Given the description of an element on the screen output the (x, y) to click on. 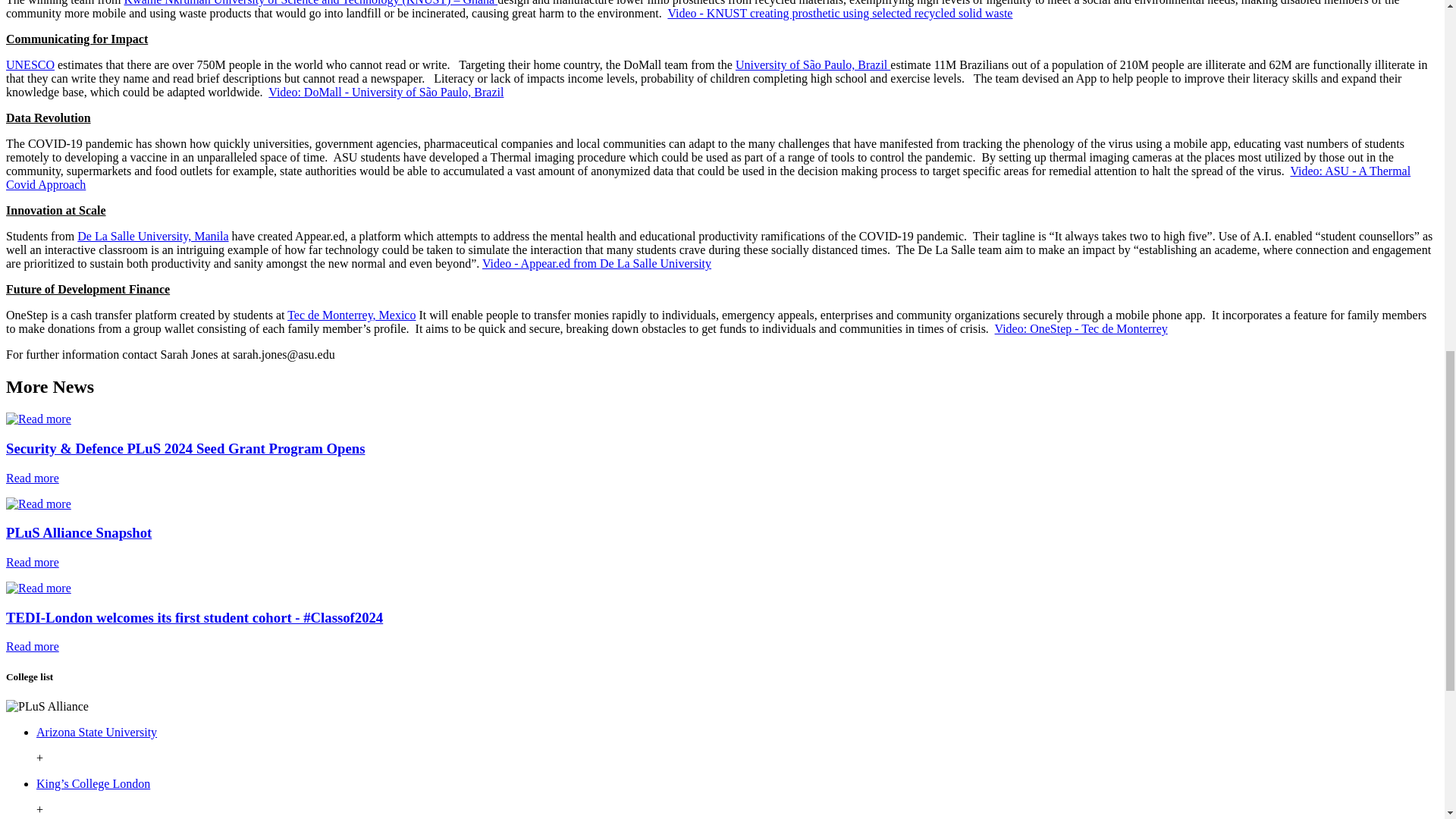
Video - Appear.ed from De La Salle University (596, 263)
Tec de Monterrey, Mexico (350, 314)
Video: ASU - A Thermal Covid Approach (707, 177)
De La Salle University, Manila (152, 236)
UNESCO (30, 64)
Link opens in new window (92, 783)
Link opens in new window (96, 731)
